Given the description of an element on the screen output the (x, y) to click on. 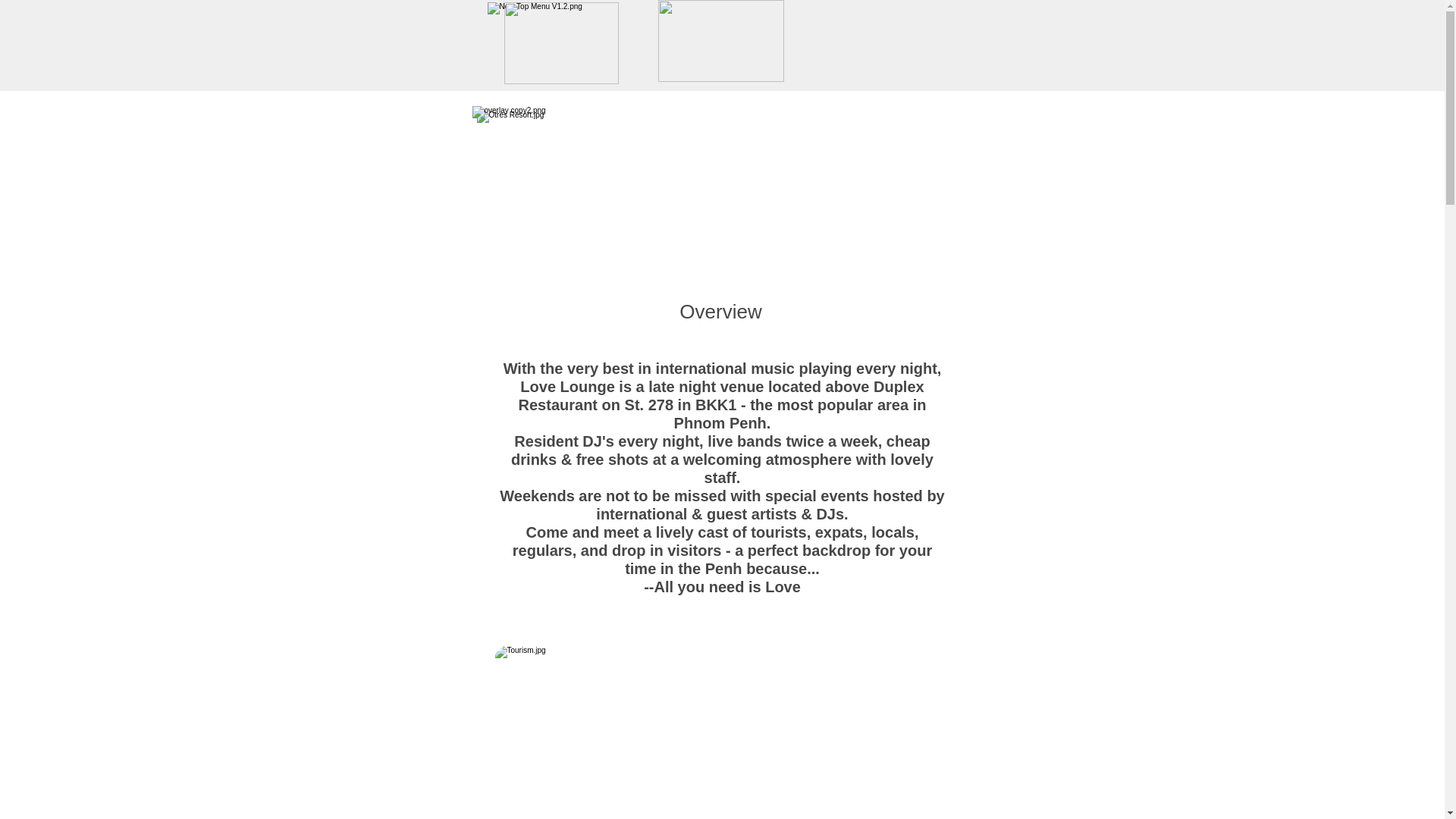
Club Love.jpg (719, 188)
love.jpg (722, 732)
